Given the description of an element on the screen output the (x, y) to click on. 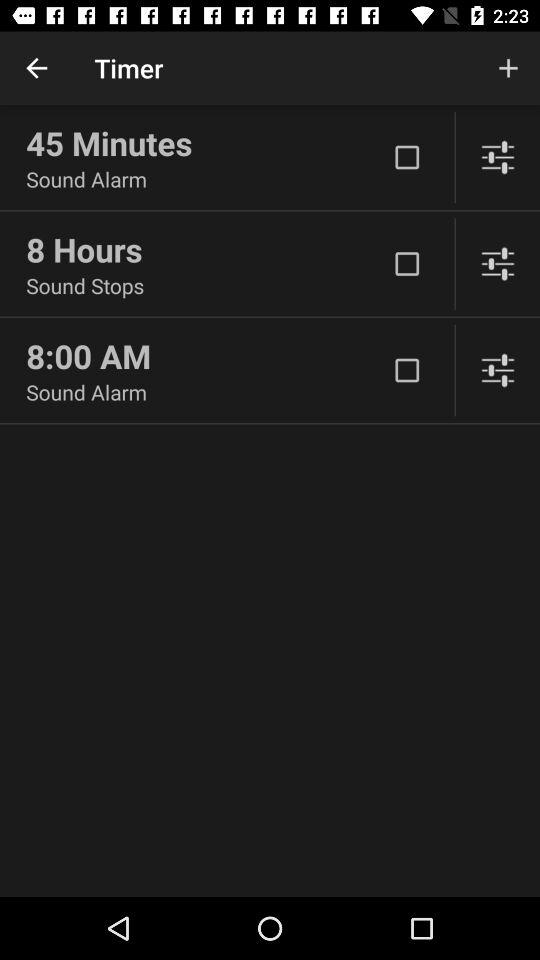
choose icon above sound alarm (206, 356)
